Given the description of an element on the screen output the (x, y) to click on. 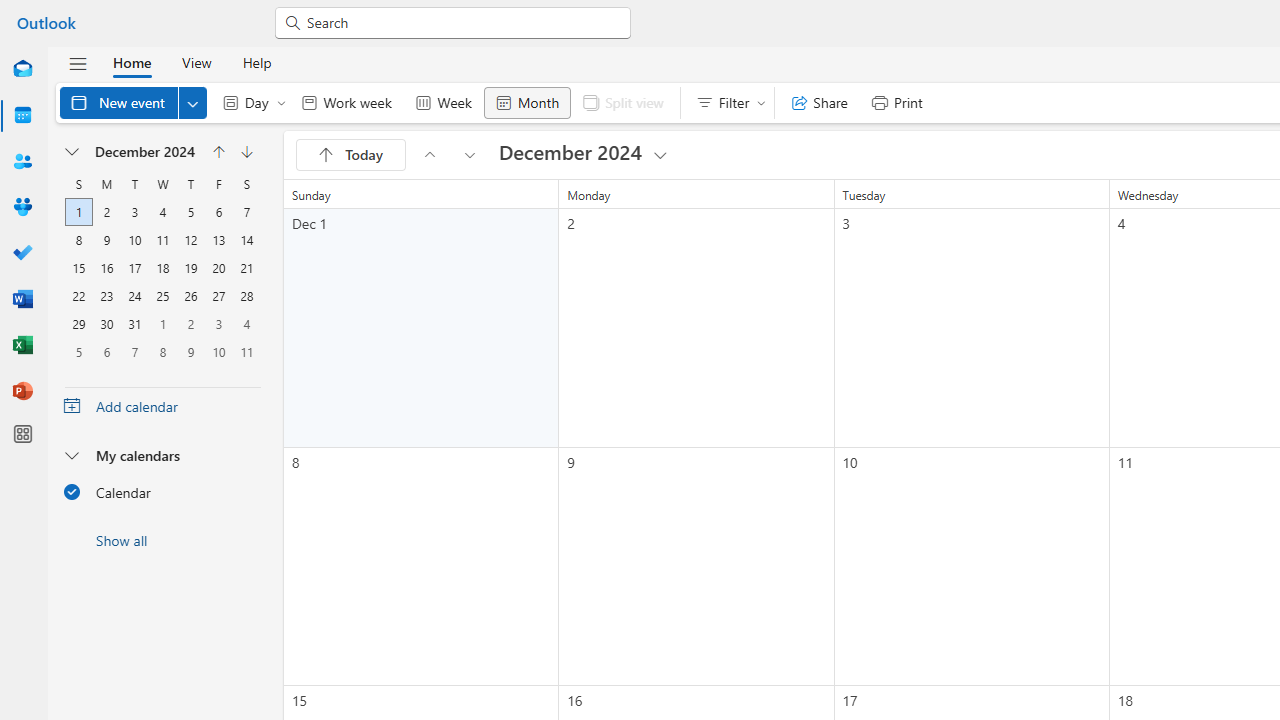
8, January, 2025 (163, 351)
1, December, 2024 (79, 212)
Help (256, 61)
4, January, 2025 (246, 323)
8, January, 2025 (162, 351)
19, December, 2024 (190, 268)
13, December, 2024 (218, 240)
5, January, 2025 (79, 351)
28, December, 2024 (246, 295)
7, January, 2025 (134, 351)
30, December, 2024 (106, 323)
5, December, 2024 (191, 211)
7, December, 2024 (246, 211)
3, January, 2025 (218, 323)
26, December, 2024 (190, 296)
